Given the description of an element on the screen output the (x, y) to click on. 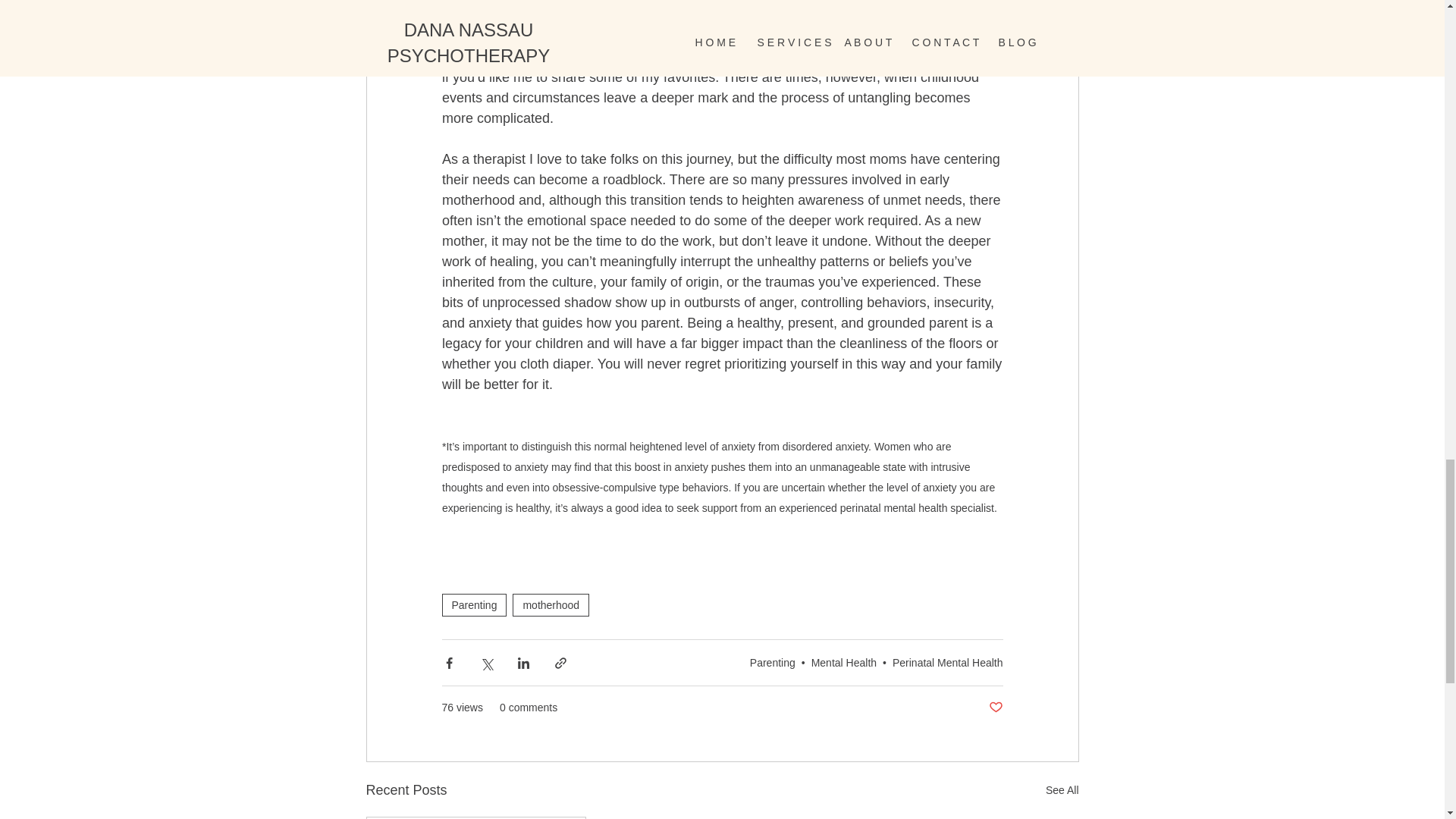
Parenting (473, 604)
Perinatal Mental Health (947, 662)
motherhood (550, 604)
Parenting (771, 662)
See All (1061, 790)
Post not marked as liked (995, 707)
Mental Health (843, 662)
